Given the description of an element on the screen output the (x, y) to click on. 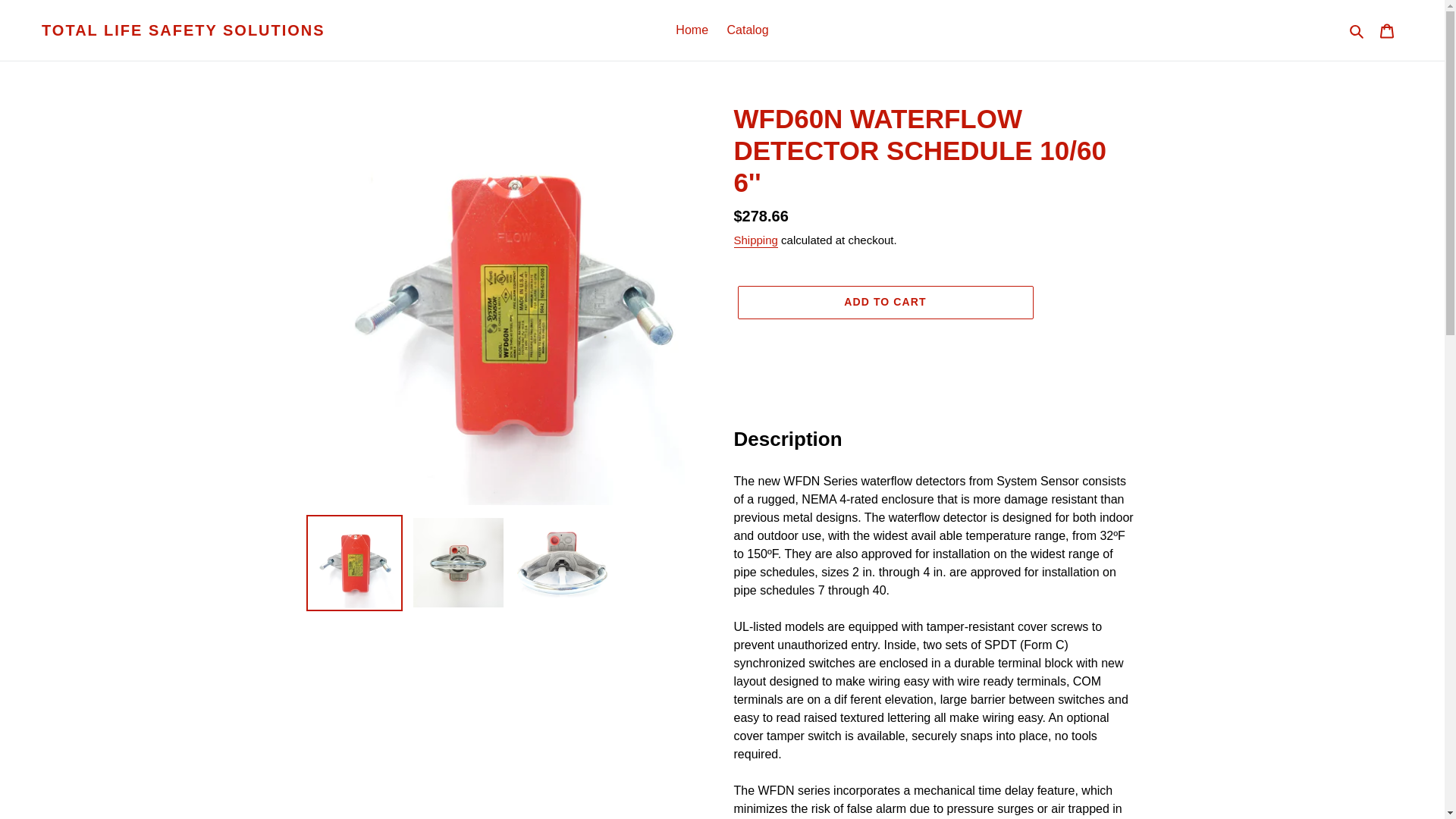
ADD TO CART (884, 302)
Search (1357, 30)
Catalog (747, 29)
Home (692, 29)
TOTAL LIFE SAFETY SOLUTIONS (183, 30)
Cart (1387, 29)
Shipping (755, 240)
